Given the description of an element on the screen output the (x, y) to click on. 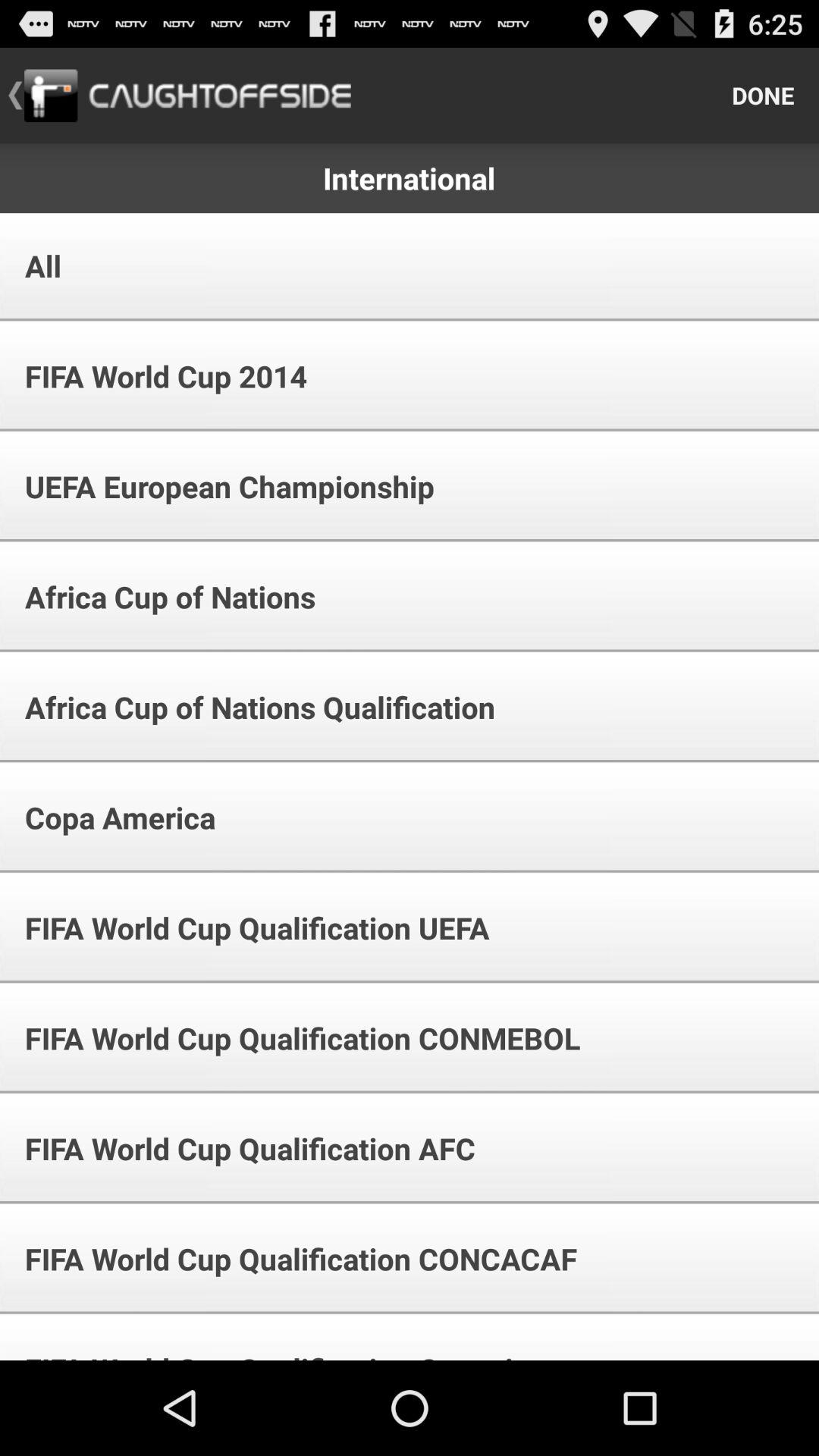
turn on the item at the top right corner (763, 95)
